Given the description of an element on the screen output the (x, y) to click on. 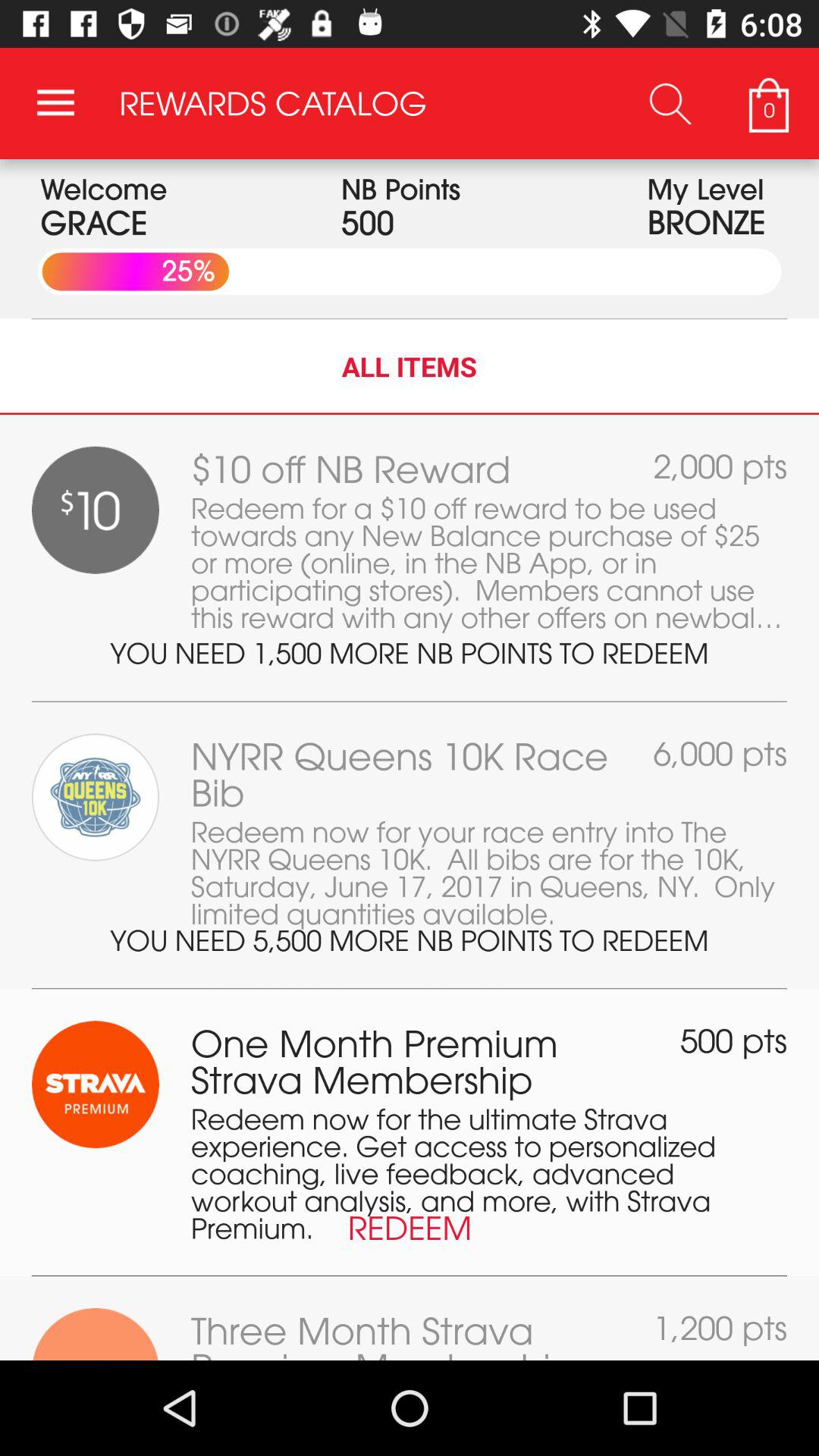
flip to 500 pts icon (733, 1040)
